Given the description of an element on the screen output the (x, y) to click on. 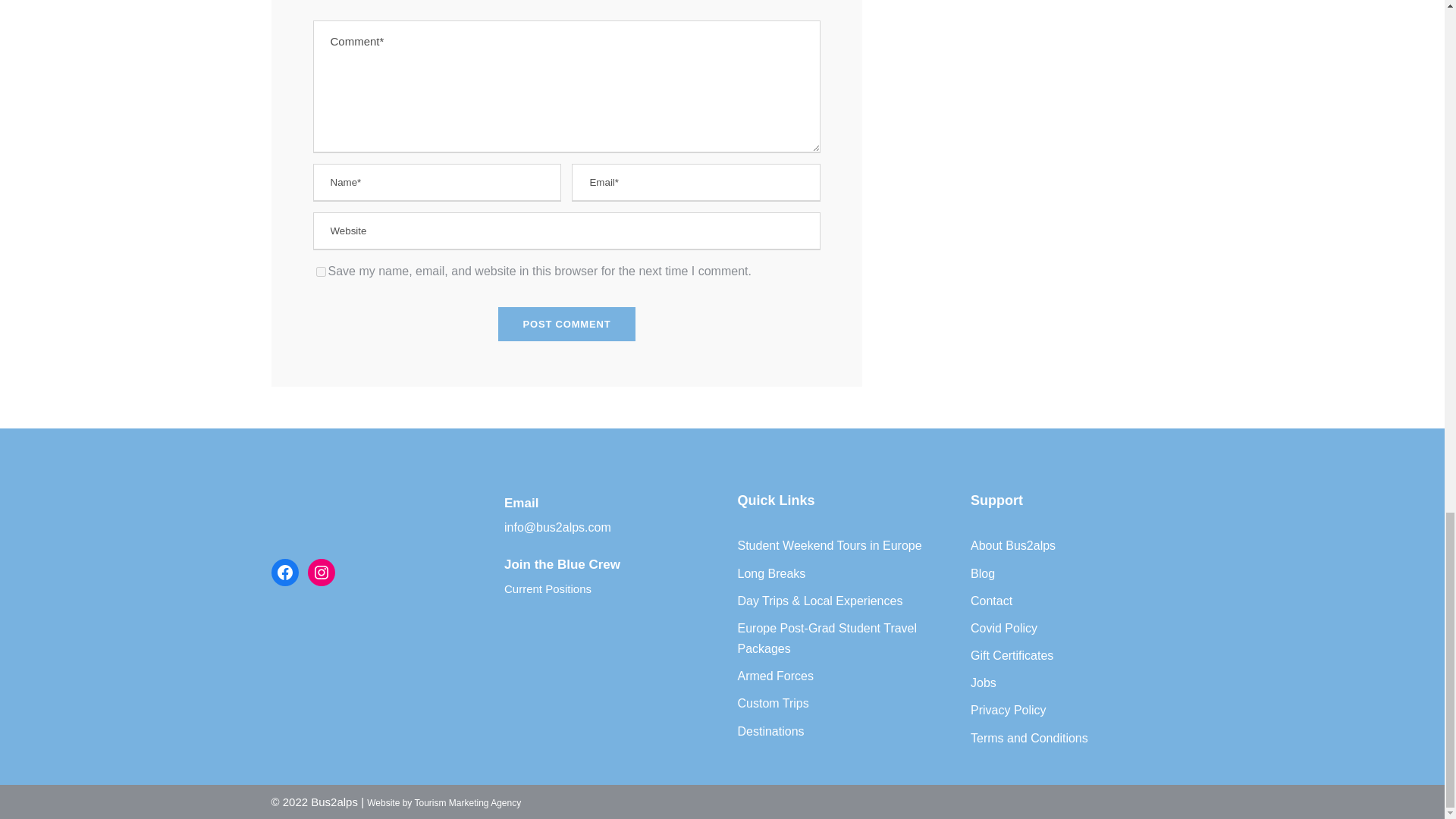
Post Comment (566, 324)
yes (319, 271)
